Given the description of an element on the screen output the (x, y) to click on. 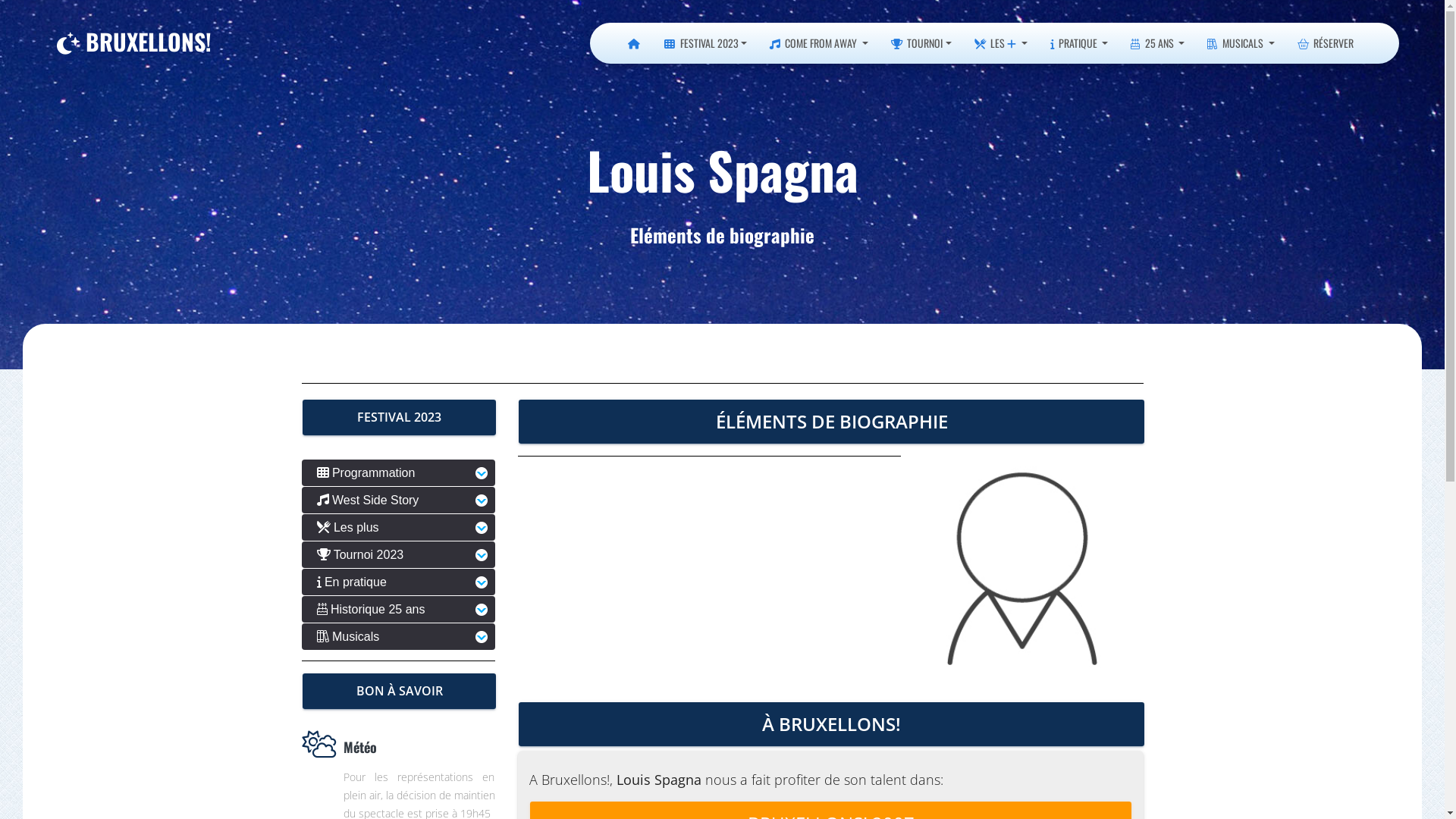
FESTIVAL 2023 Element type: text (705, 42)
Programmation Element type: text (398, 472)
Tournoi 2023 Element type: text (398, 554)
FESTIVAL 2023 Element type: text (398, 417)
LES Element type: text (1000, 42)
MUSICALS Element type: text (1240, 42)
West Side Story Element type: text (398, 499)
Les plus Element type: text (398, 527)
Historique 25 ans Element type: text (398, 609)
COME FROM AWAY Element type: text (818, 42)
En pratique Element type: text (398, 581)
BRUXELLONS! Element type: text (133, 42)
25 ANS Element type: text (1157, 42)
PRATIQUE Element type: text (1079, 42)
Musicals Element type: text (398, 636)
TOURNOI Element type: text (921, 42)
